Given the description of an element on the screen output the (x, y) to click on. 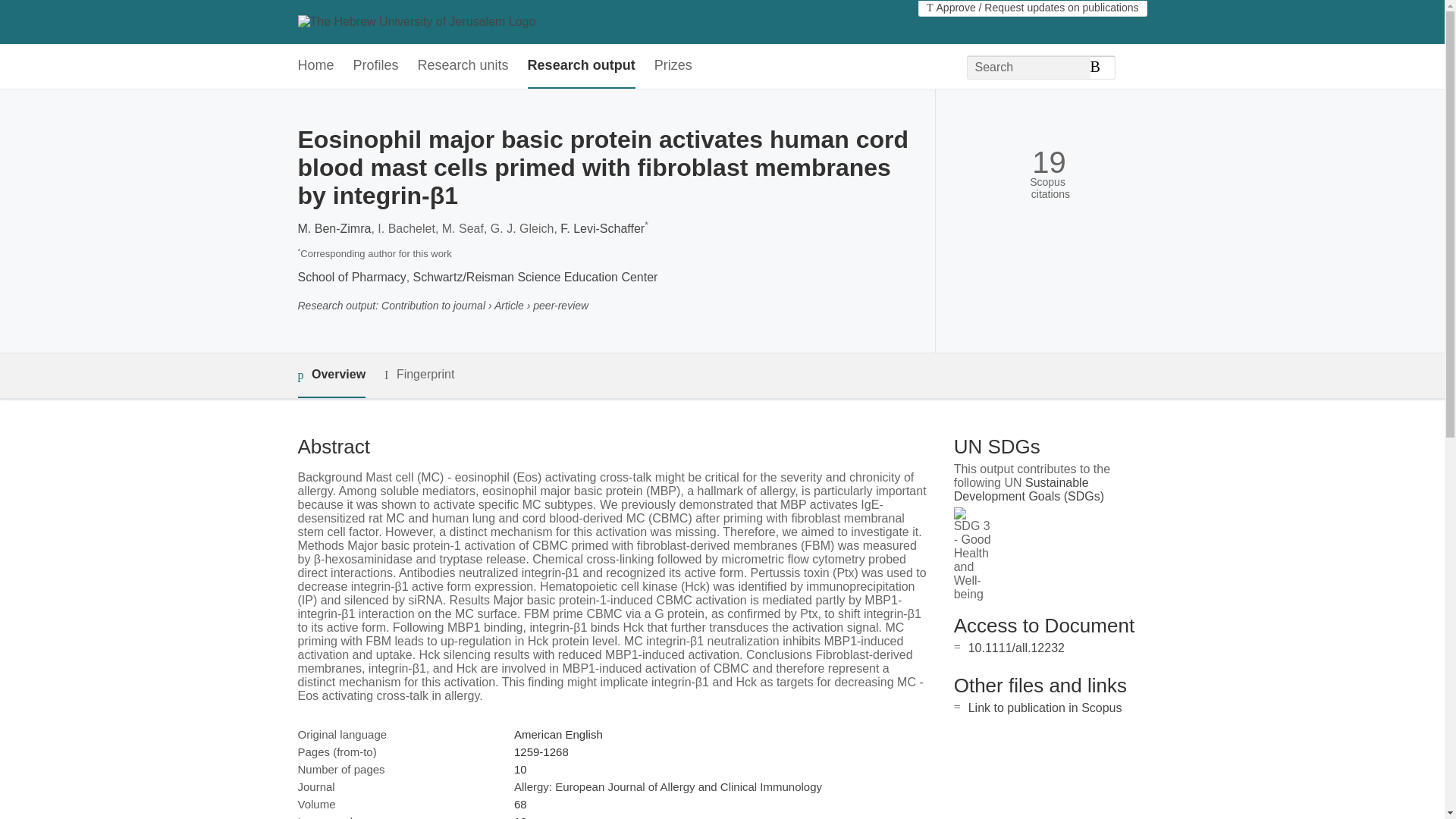
Fingerprint (419, 374)
F. Levi-Schaffer (602, 228)
Link to publication in Scopus (1045, 707)
Profiles (375, 66)
M. Ben-Zimra (334, 228)
Research output (580, 66)
Allergy: European Journal of Allergy and Clinical Immunology (667, 786)
Overview (331, 375)
The Hebrew University of Jerusalem Home (416, 21)
